Given the description of an element on the screen output the (x, y) to click on. 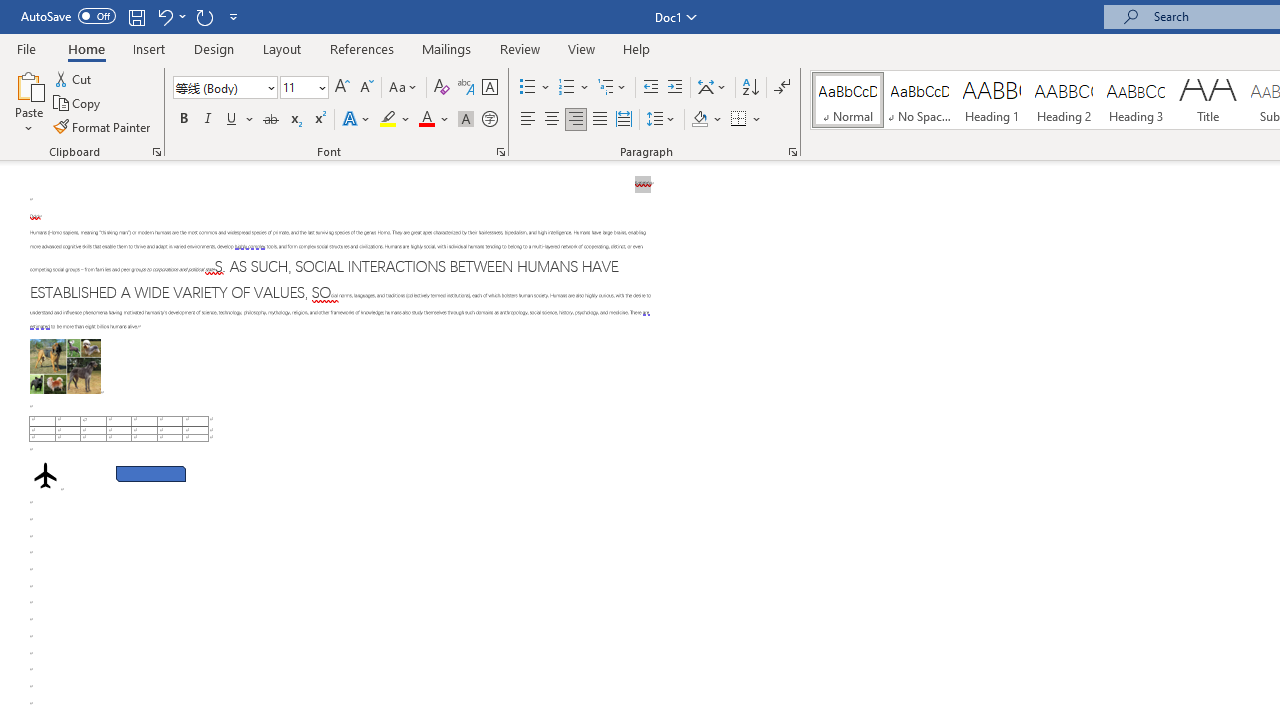
Undo Paragraph Alignment (170, 15)
Heading 2 (1063, 100)
